Given the description of an element on the screen output the (x, y) to click on. 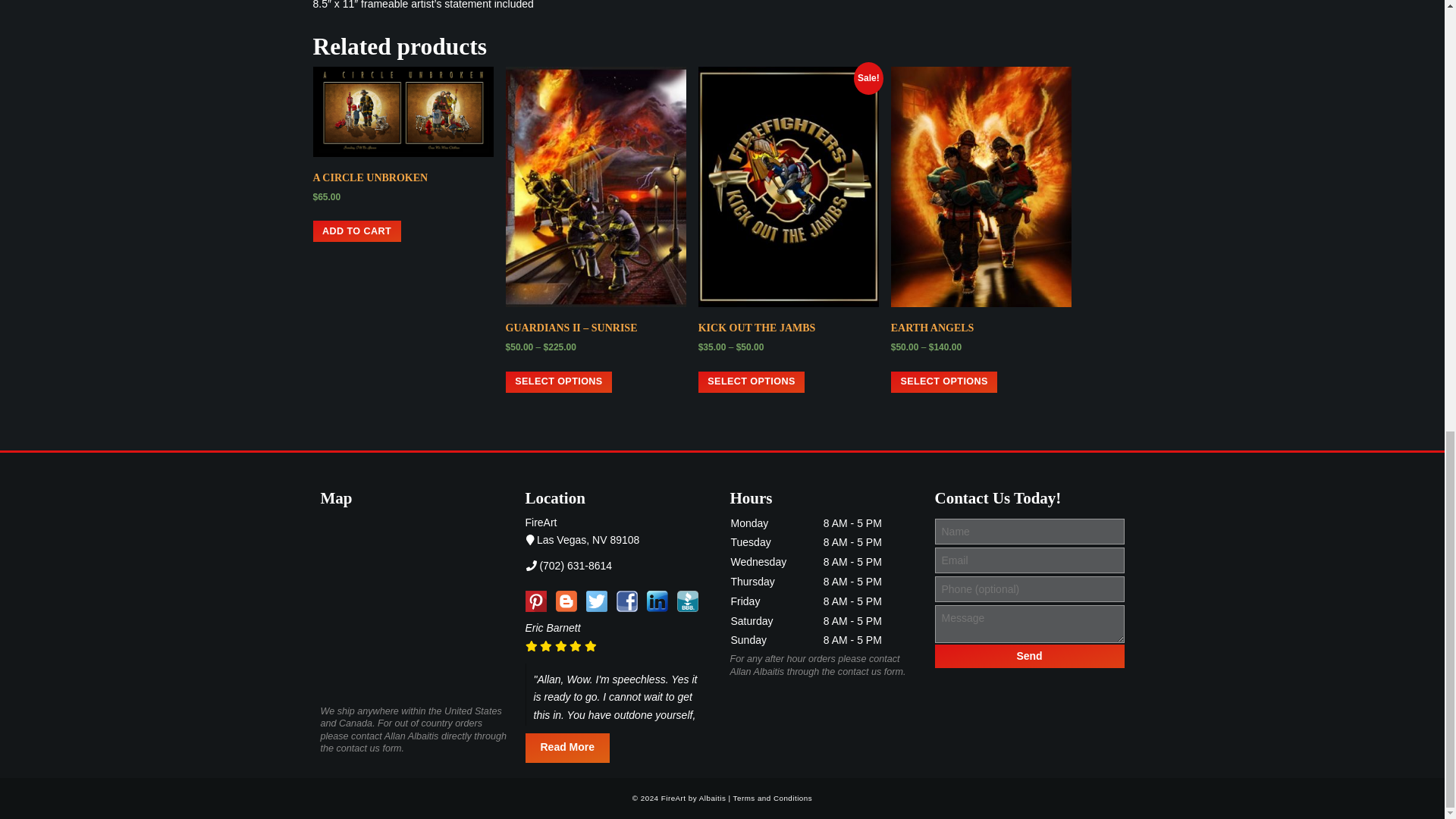
ADD TO CART (356, 230)
SELECT OPTIONS (751, 382)
Send (1029, 656)
SELECT OPTIONS (558, 382)
